Given the description of an element on the screen output the (x, y) to click on. 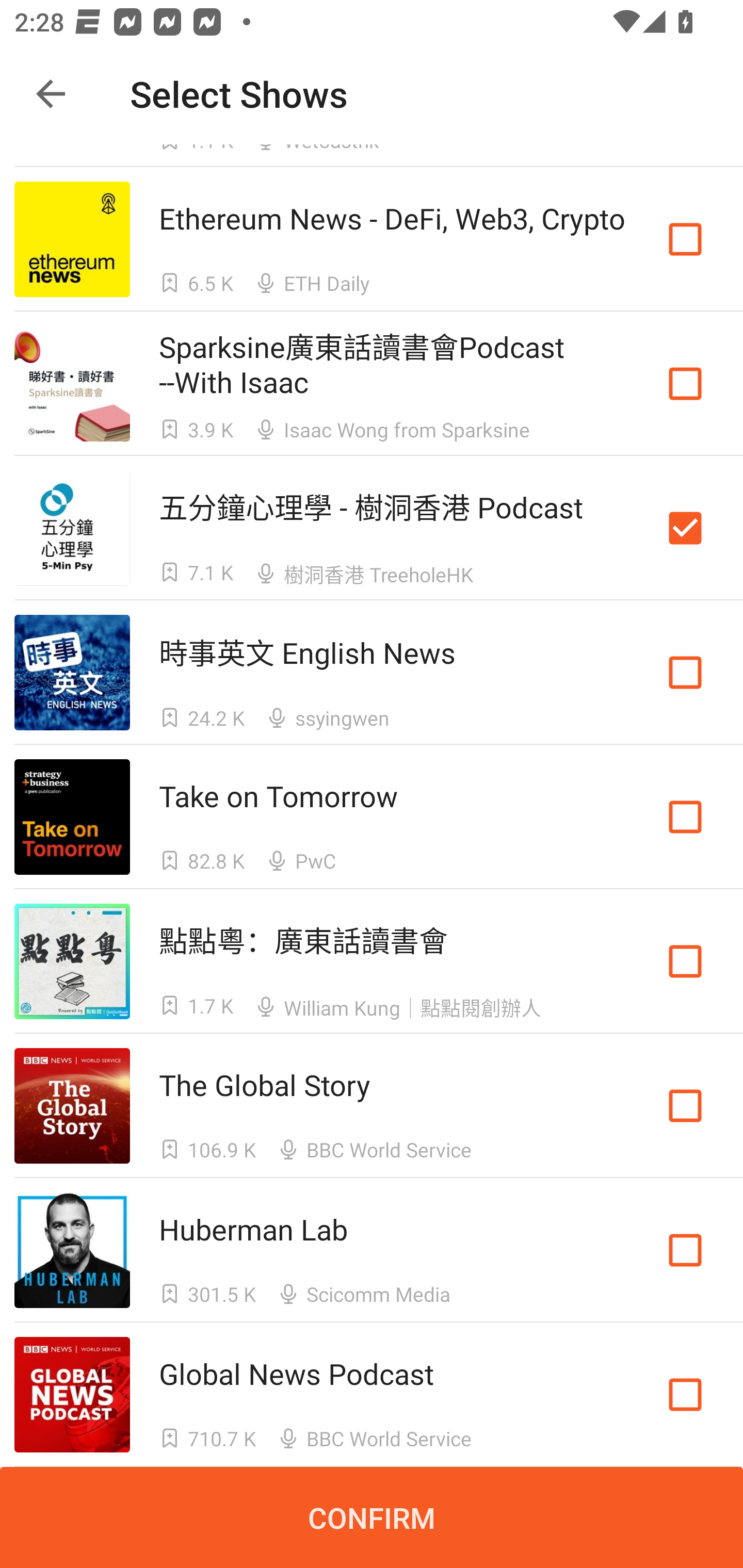
Navigate up (50, 93)
Take on Tomorrow Take on Tomorrow  82.8 K  PwC (371, 816)
CONFIRM (371, 1517)
